Given the description of an element on the screen output the (x, y) to click on. 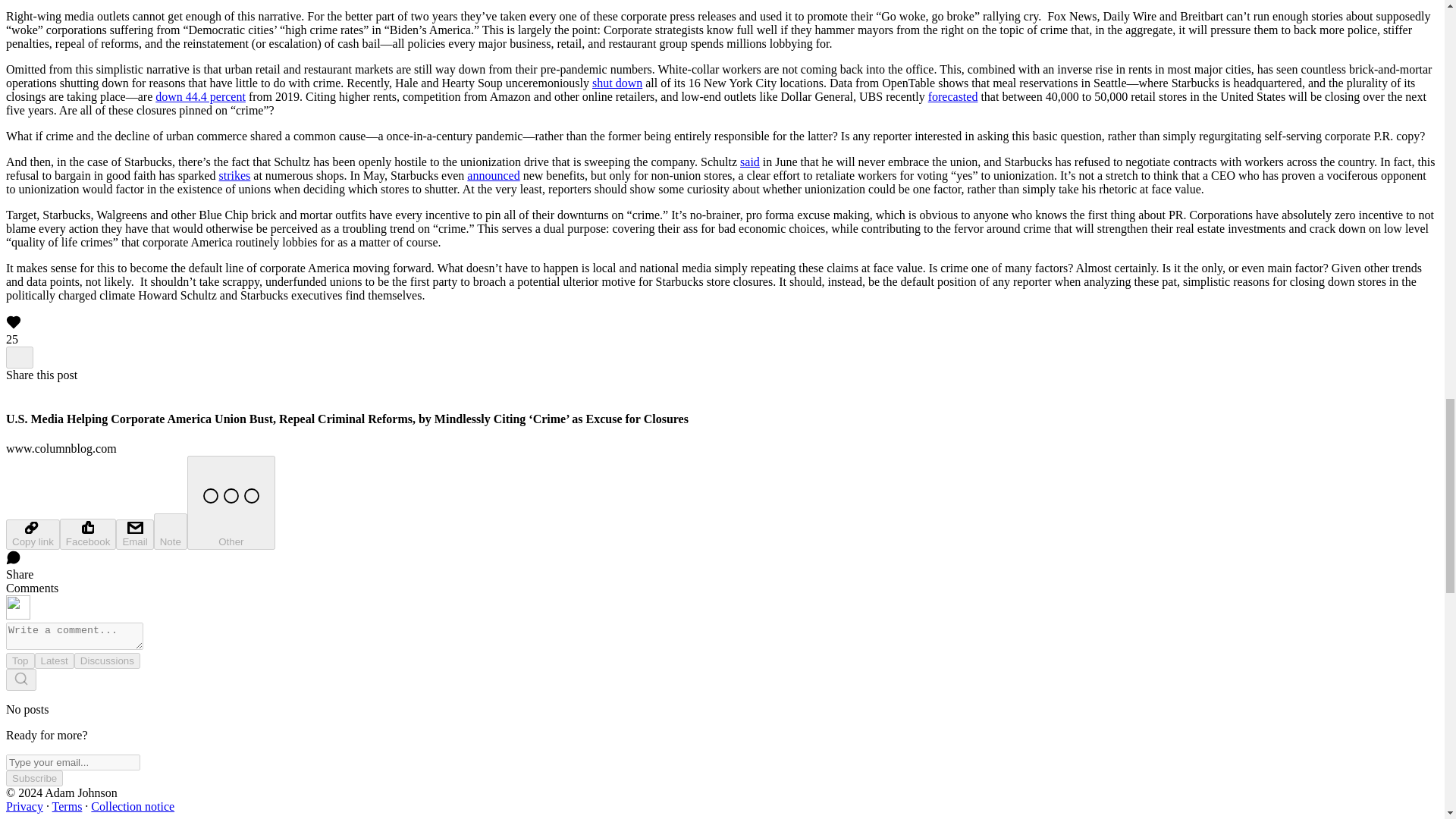
strikes (234, 174)
Email (134, 534)
shut down (617, 82)
Facebook (87, 533)
down 44.4 percent (200, 96)
said (749, 161)
announced (493, 174)
Copy link (32, 534)
forecasted (953, 96)
